Given the description of an element on the screen output the (x, y) to click on. 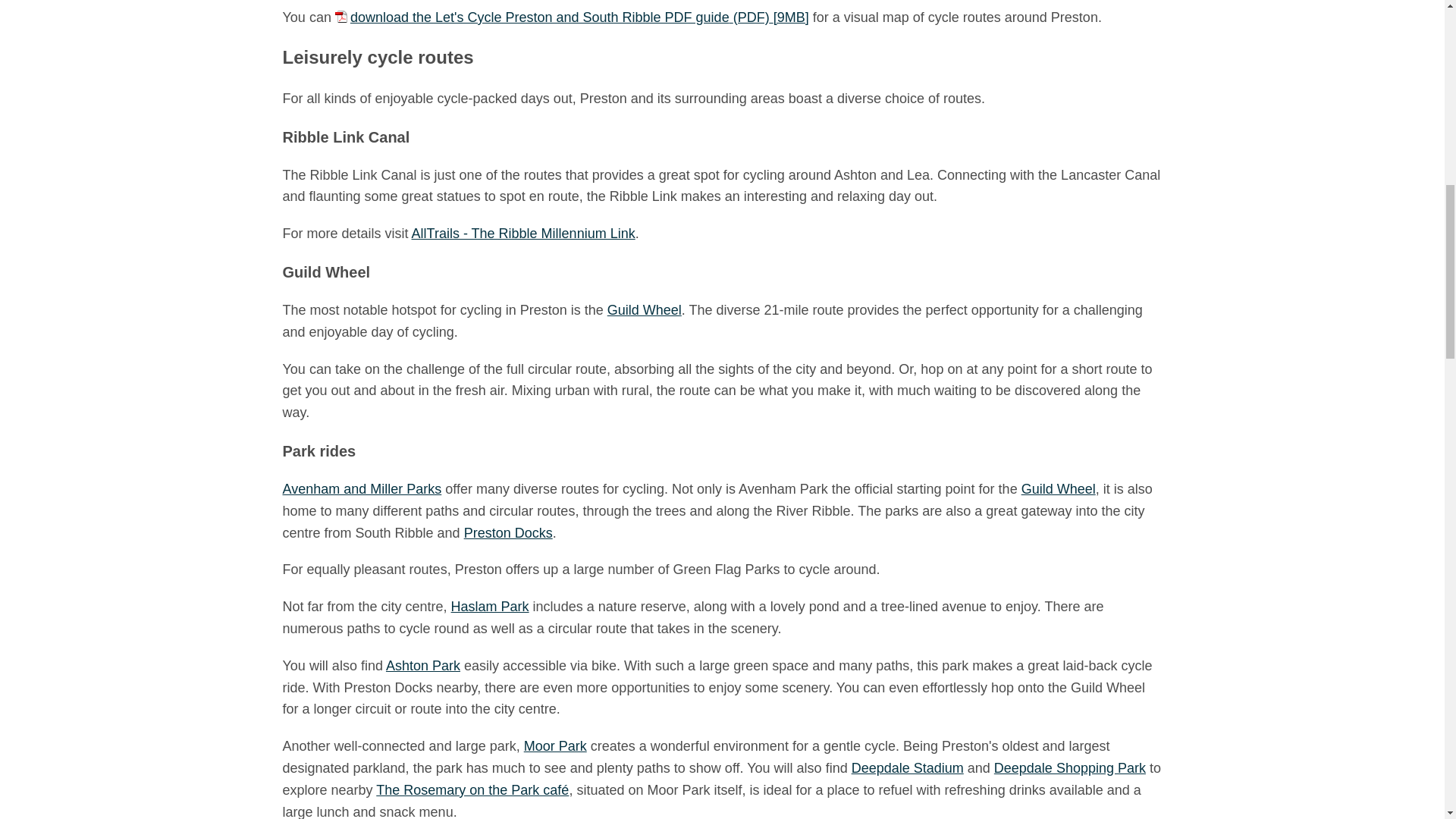
Deepdale Stadium (907, 767)
AllTrails - The Ribble Millennium Link (523, 233)
Guild Wheel (644, 309)
Preston Docks (508, 532)
Haslam Park (490, 606)
Deepdale Shopping Park (1069, 767)
Ashton Park (422, 665)
Avenham and Miller Parks (361, 488)
Guild Wheel (1059, 488)
Moor Park (555, 745)
